Given the description of an element on the screen output the (x, y) to click on. 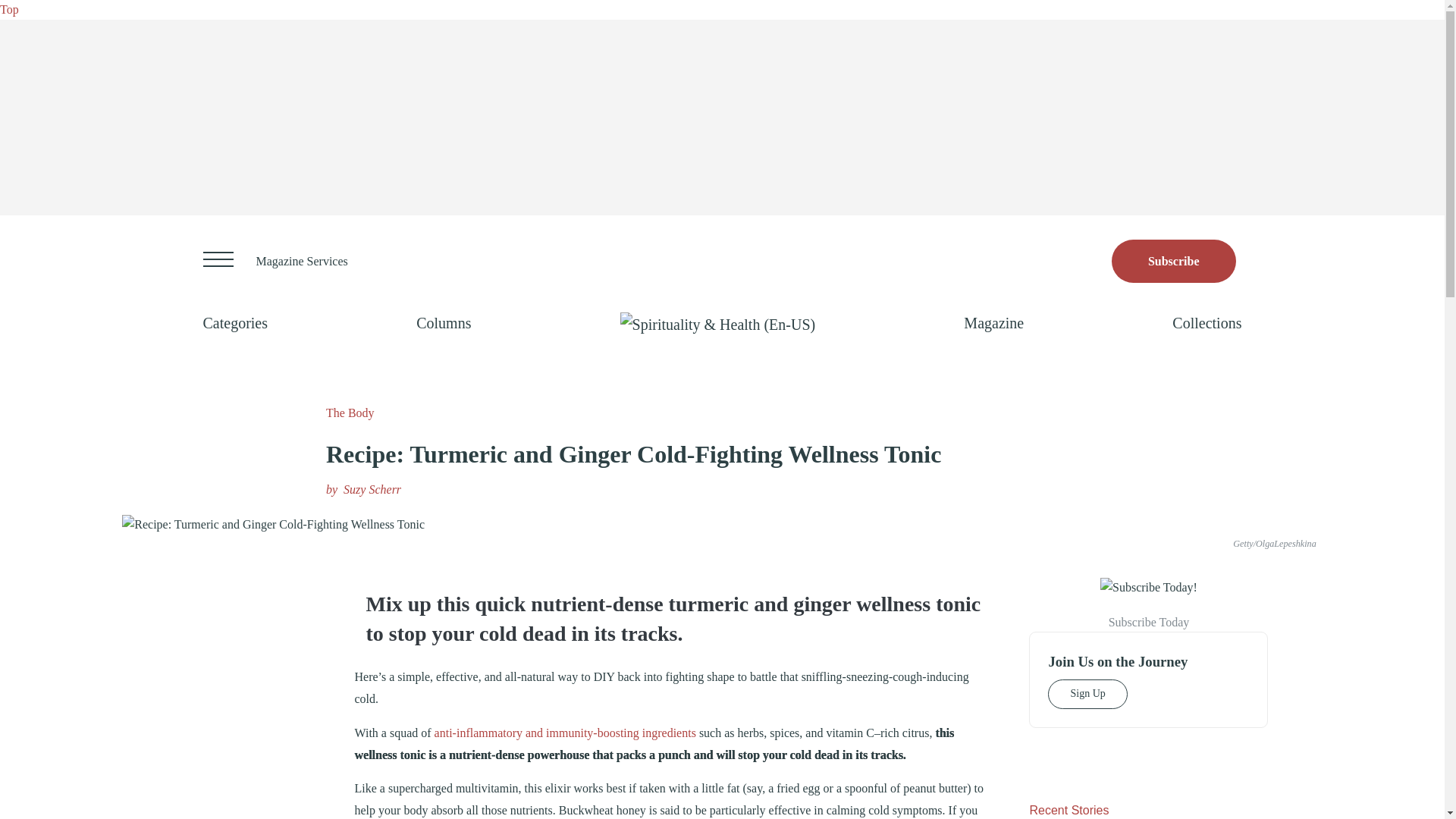
Magazine (993, 322)
Magazine Services (301, 260)
Opens to Store site (1174, 261)
Top (9, 9)
Categories (235, 322)
Subscribe (1174, 261)
Columns (443, 322)
Collections (1206, 322)
